Given the description of an element on the screen output the (x, y) to click on. 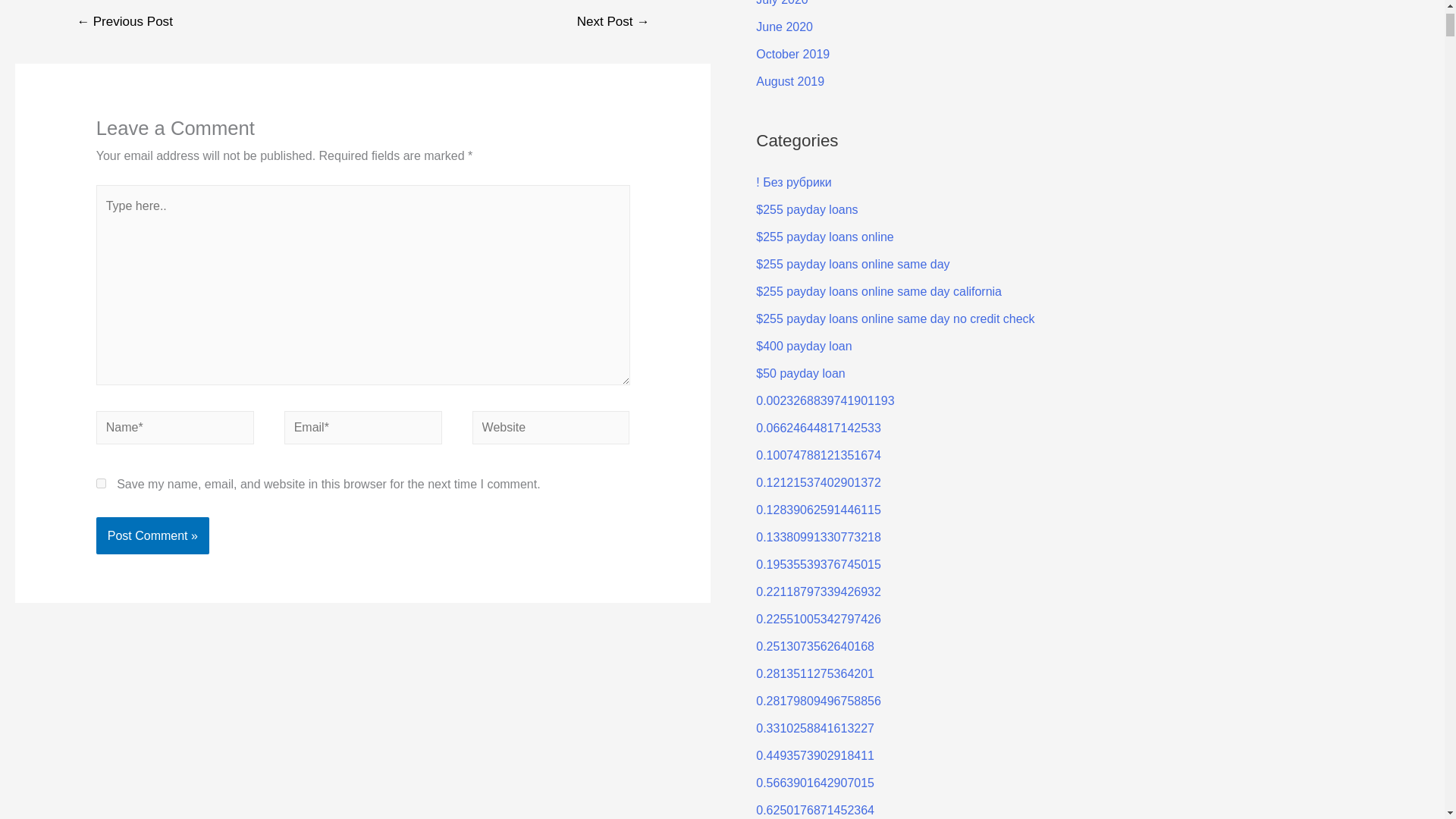
yes (101, 483)
